Given the description of an element on the screen output the (x, y) to click on. 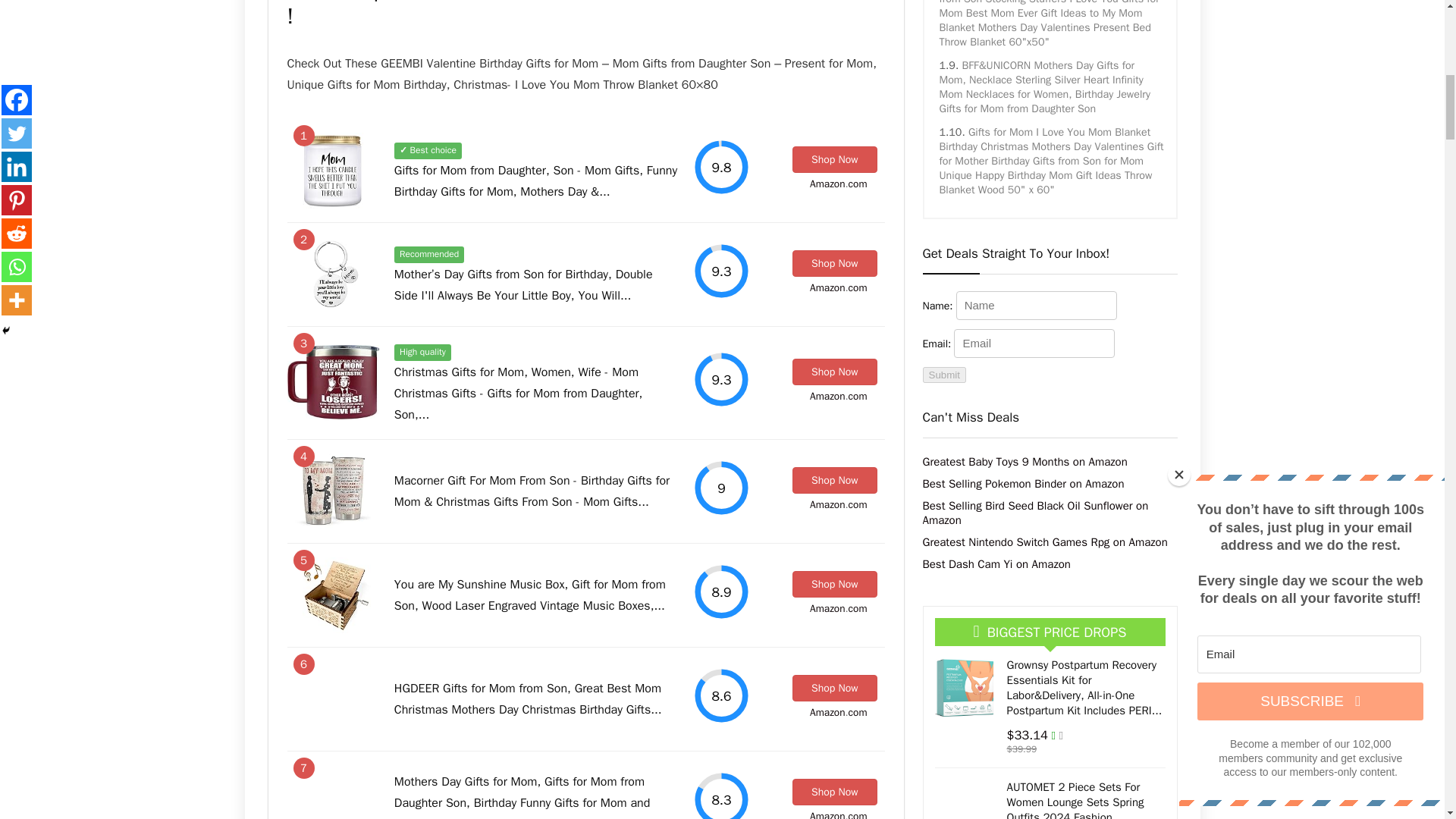
com (857, 183)
9.3 (721, 379)
9.8 (721, 166)
8.3 (721, 795)
9 (721, 487)
9.3 (721, 270)
Amazon (826, 183)
8.6 (721, 695)
8.9 (721, 591)
byte (857, 183)
Amazing Stealz Amazon Page (826, 287)
Shop Now (834, 158)
Amazing Stealz Amazon Page (826, 183)
